Given the description of an element on the screen output the (x, y) to click on. 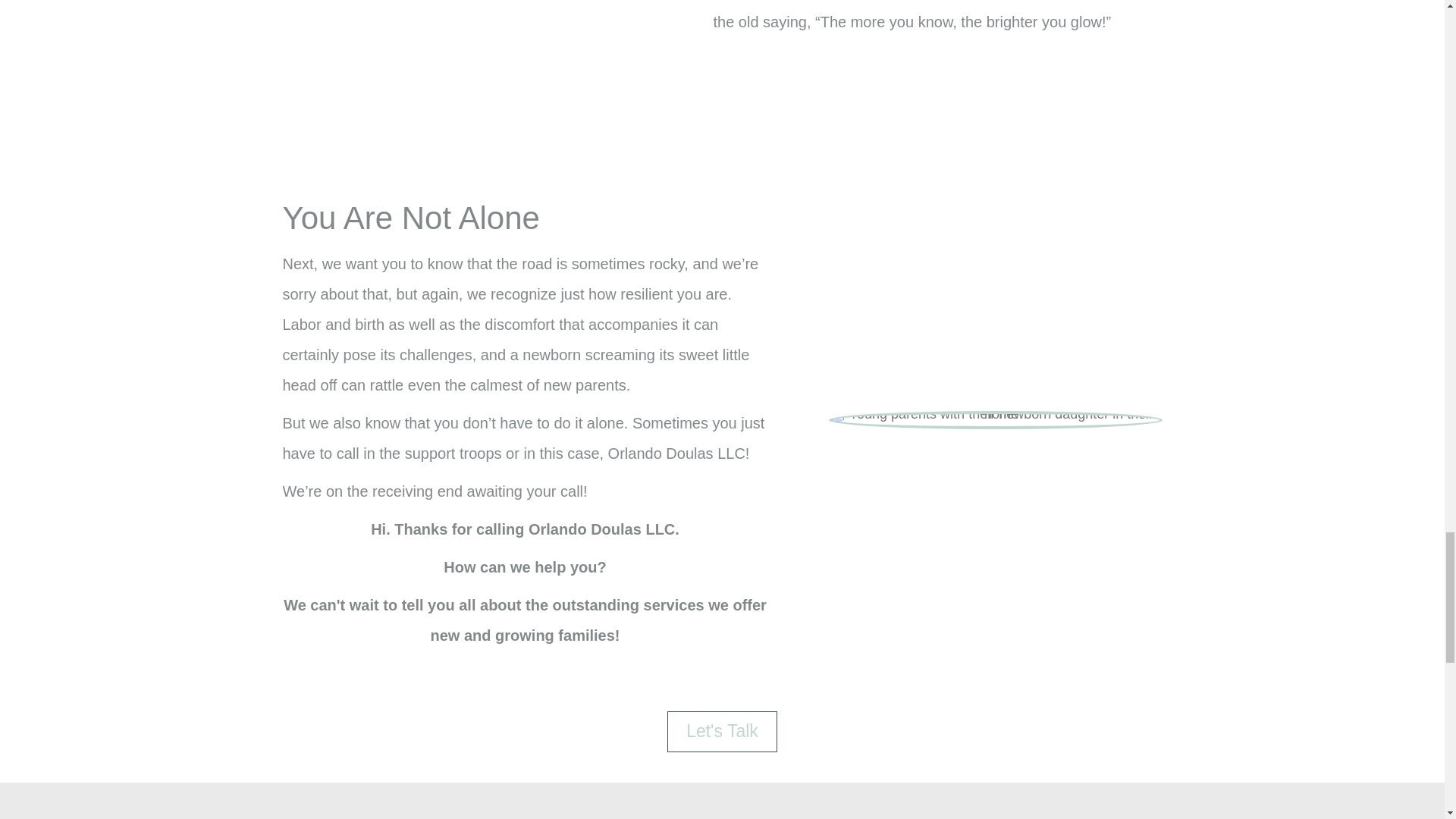
Young parents with their newborn daughter in their home (994, 420)
Let's Talk (721, 731)
